Given the description of an element on the screen output the (x, y) to click on. 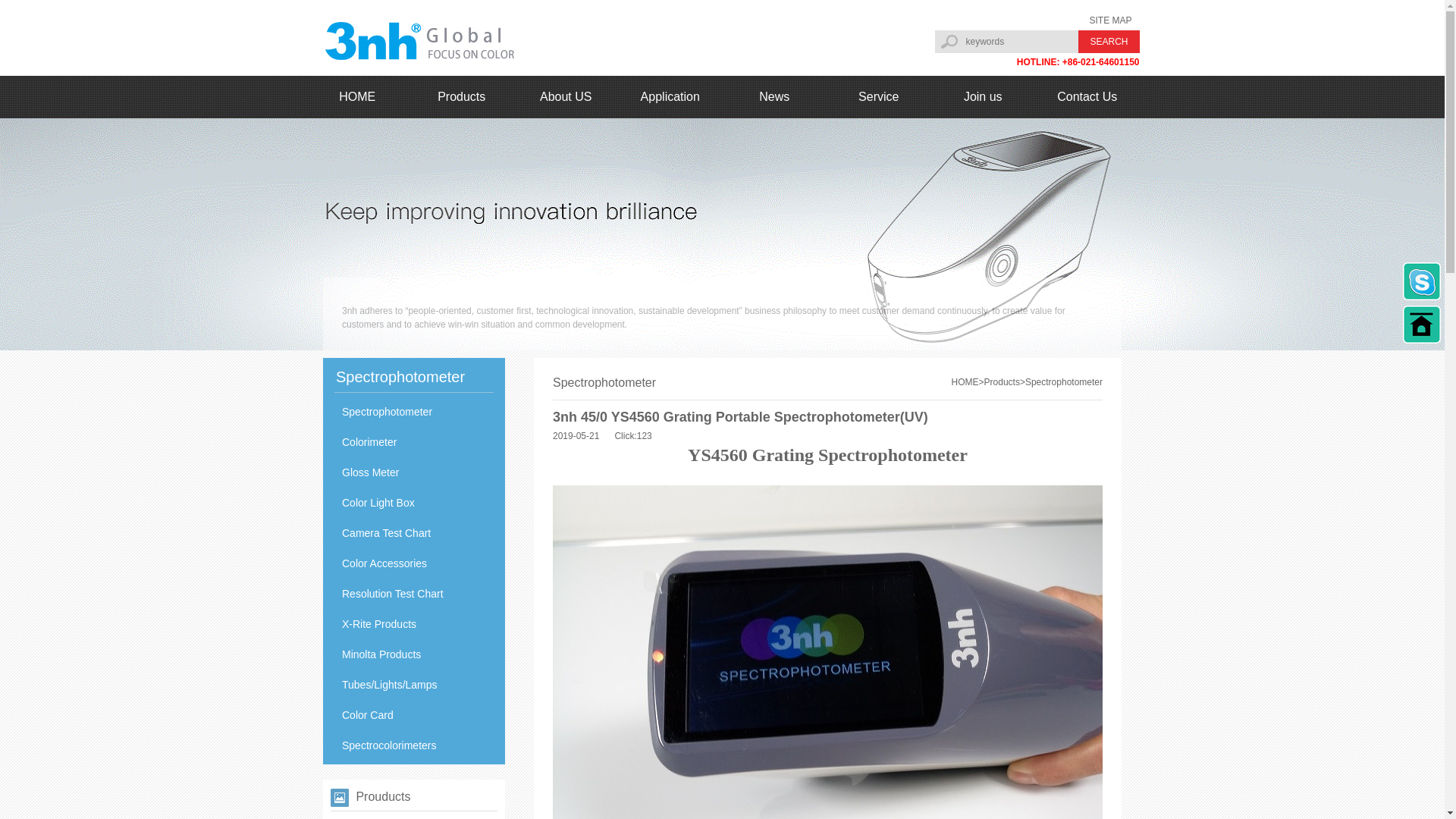
About US Element type: text (566, 96)
Spectrophotometer Element type: text (1063, 381)
Spectrocolorimeters Element type: text (414, 745)
Color Light Box Element type: text (414, 502)
Spectrophotometer Element type: text (414, 411)
Resolution Test Chart Element type: text (414, 593)
Products Element type: text (1001, 381)
News Element type: text (773, 96)
Join us Element type: text (983, 96)
Gloss Meter Element type: text (414, 472)
SEARCH Element type: text (1108, 41)
Colorimeter Element type: text (414, 441)
Tubes/Lights/Lamps Element type: text (414, 684)
Service Element type: text (878, 96)
Products Element type: text (461, 96)
X-Rite Products Element type: text (414, 623)
Camera Test Chart Element type: text (414, 532)
Minolta Products Element type: text (414, 654)
HOME Element type: text (965, 381)
Color Card Element type: text (414, 714)
Contact Us Element type: text (1087, 96)
Color Accessories Element type: text (414, 563)
HOME Element type: text (356, 96)
SITE MAP Element type: text (1109, 20)
Application Element type: text (670, 96)
